Given the description of an element on the screen output the (x, y) to click on. 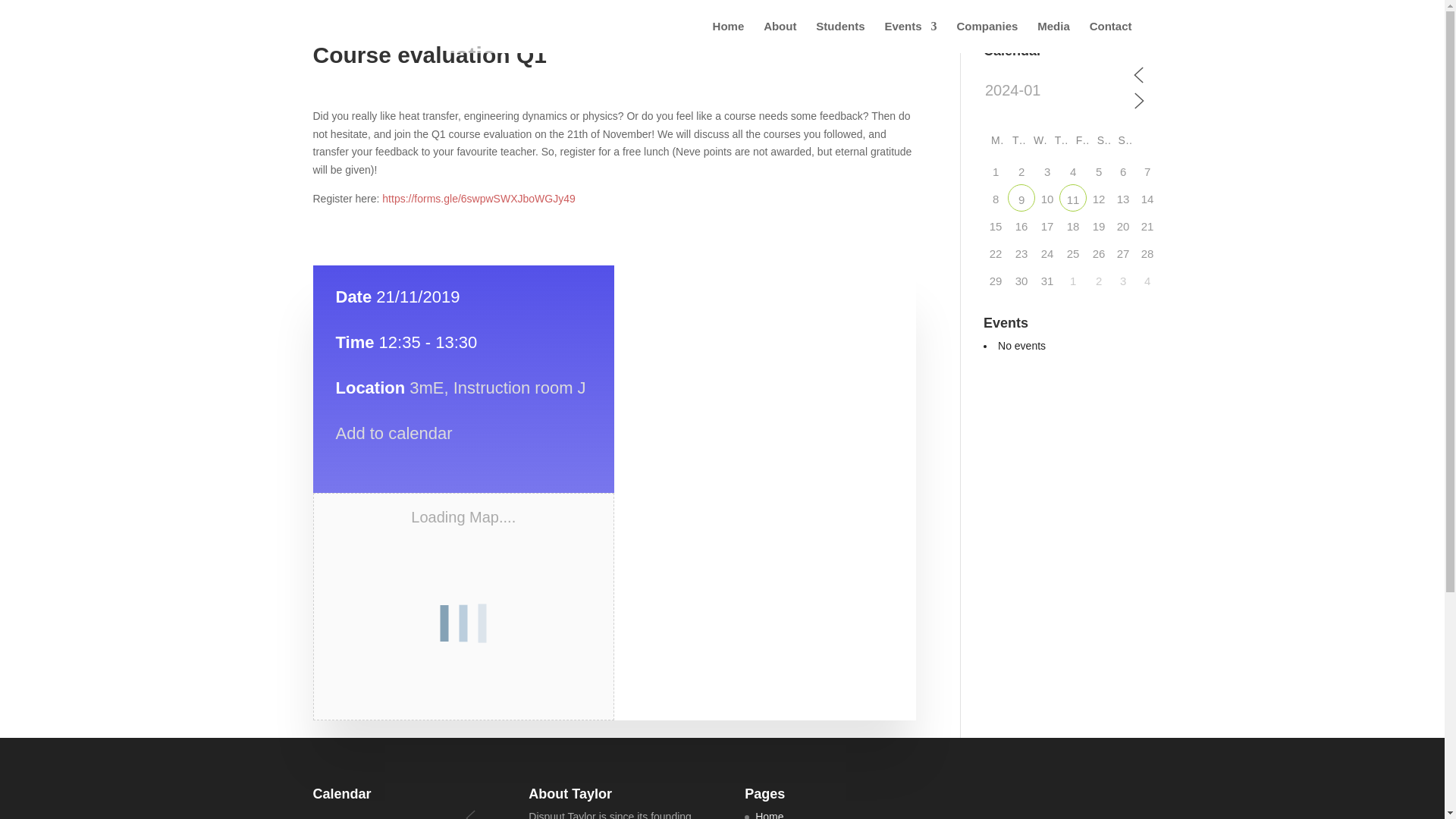
Media (1053, 37)
2024-01 (1057, 90)
Events (909, 37)
Settels Savenije lunch lecture (1072, 197)
9 (1021, 197)
Add to calendar (392, 433)
3mE, Instruction room J (497, 387)
Home (728, 37)
Contact (1110, 37)
Students (839, 37)
